Given the description of an element on the screen output the (x, y) to click on. 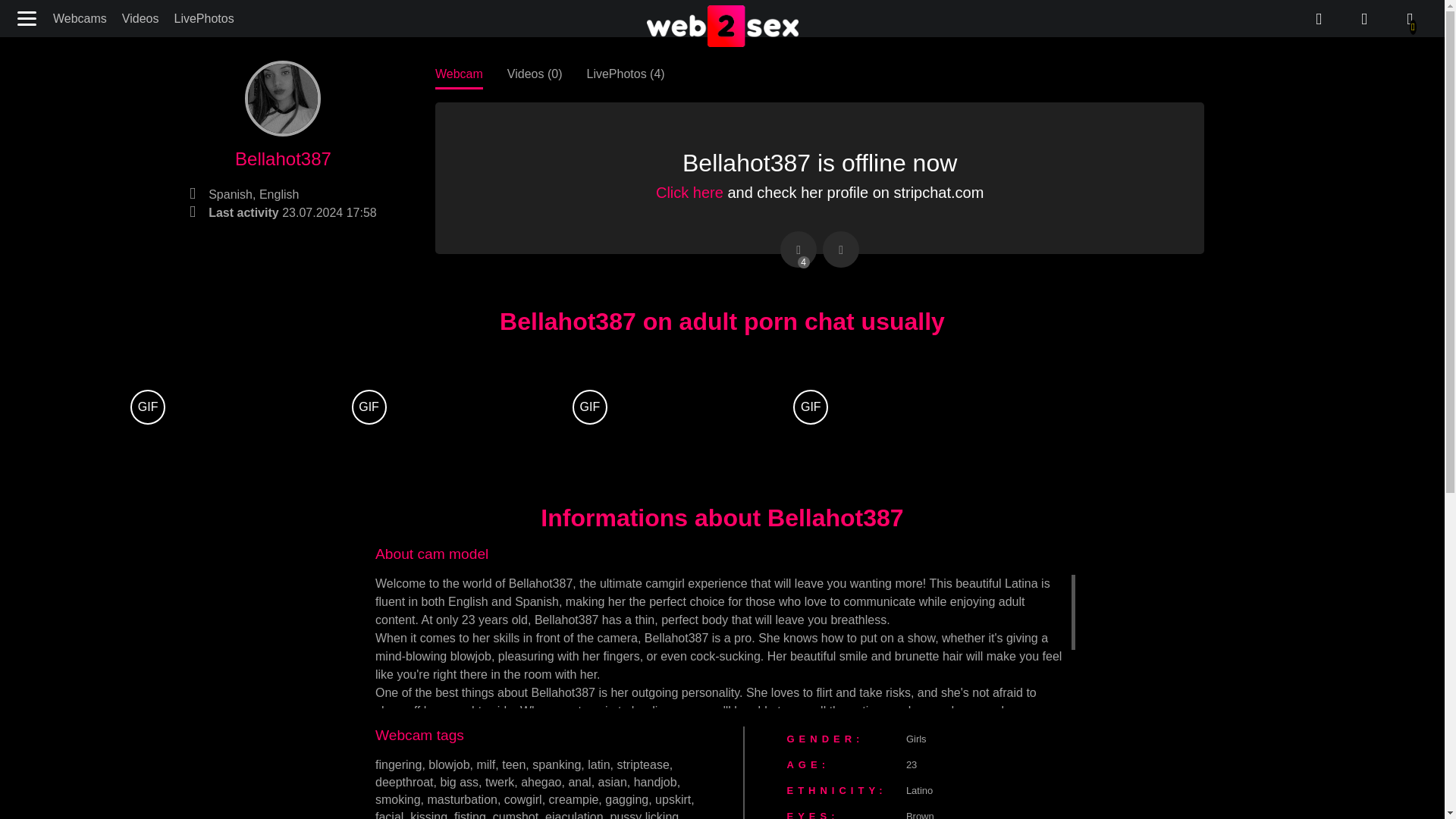
LivePhotos (203, 18)
teen (513, 764)
View Bellahot387 all LivePhotos (624, 73)
striptease (641, 764)
Bellahot387 gif recording of 08.03.2023 18:27 (368, 407)
big ass (459, 781)
Click here (689, 192)
latin (599, 764)
Bellahot387 gif recording of 11.01.2023 17:15 (810, 407)
blowjob (448, 764)
spanking (556, 764)
Watch all videos of Bellahot387 (534, 73)
ahegao (540, 781)
Bellahot387 gif recording of 30.03.2023 18:08 (147, 407)
Bellahot387 gif recording of 14.01.2023 18:26 (589, 407)
